Given the description of an element on the screen output the (x, y) to click on. 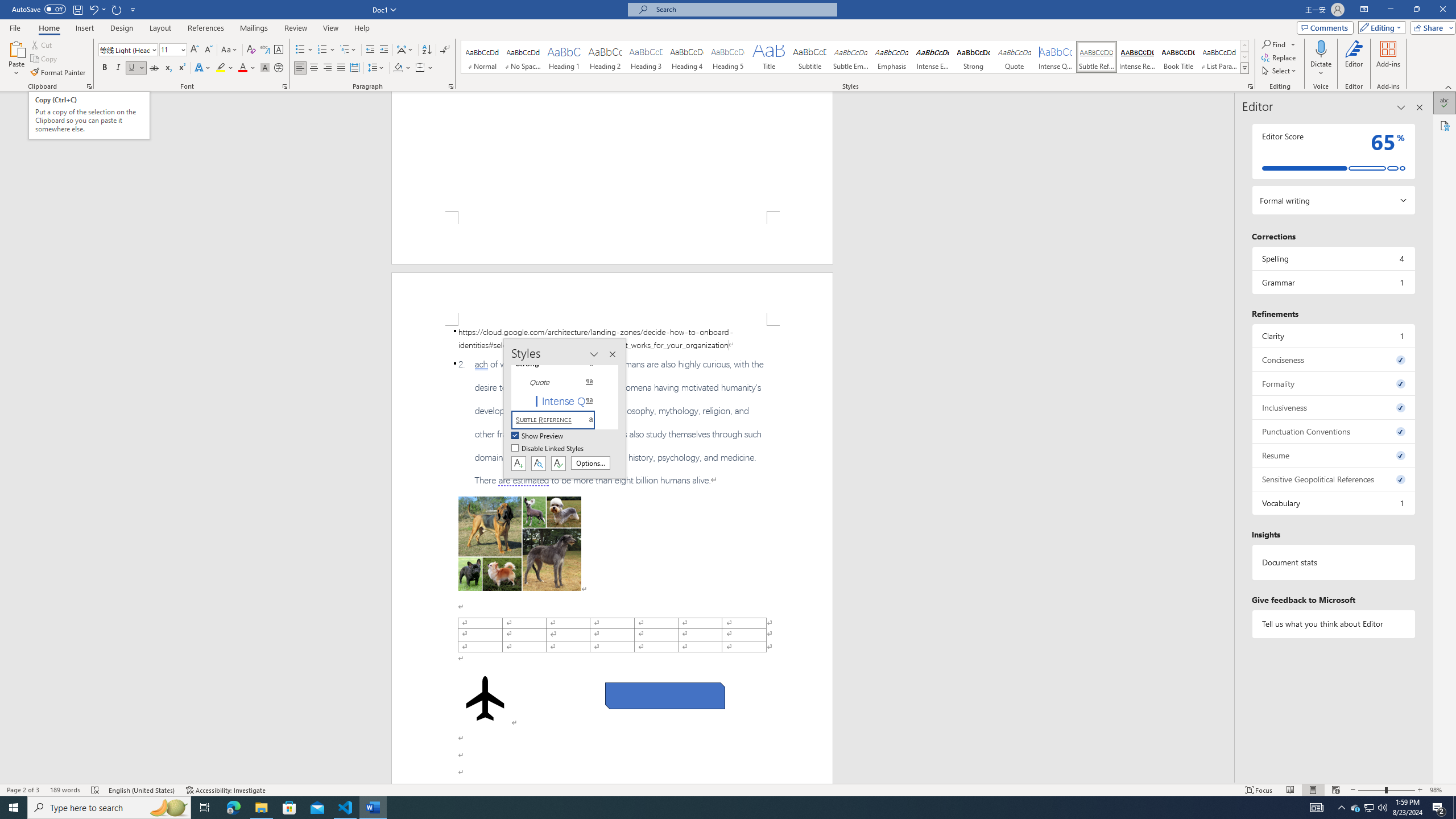
Vocabulary, 1 issue. Press space or enter to review items. (1333, 502)
Repeat Style (117, 9)
Accessibility (1444, 125)
Heading 2 (605, 56)
Page 1 content (611, 151)
